Given the description of an element on the screen output the (x, y) to click on. 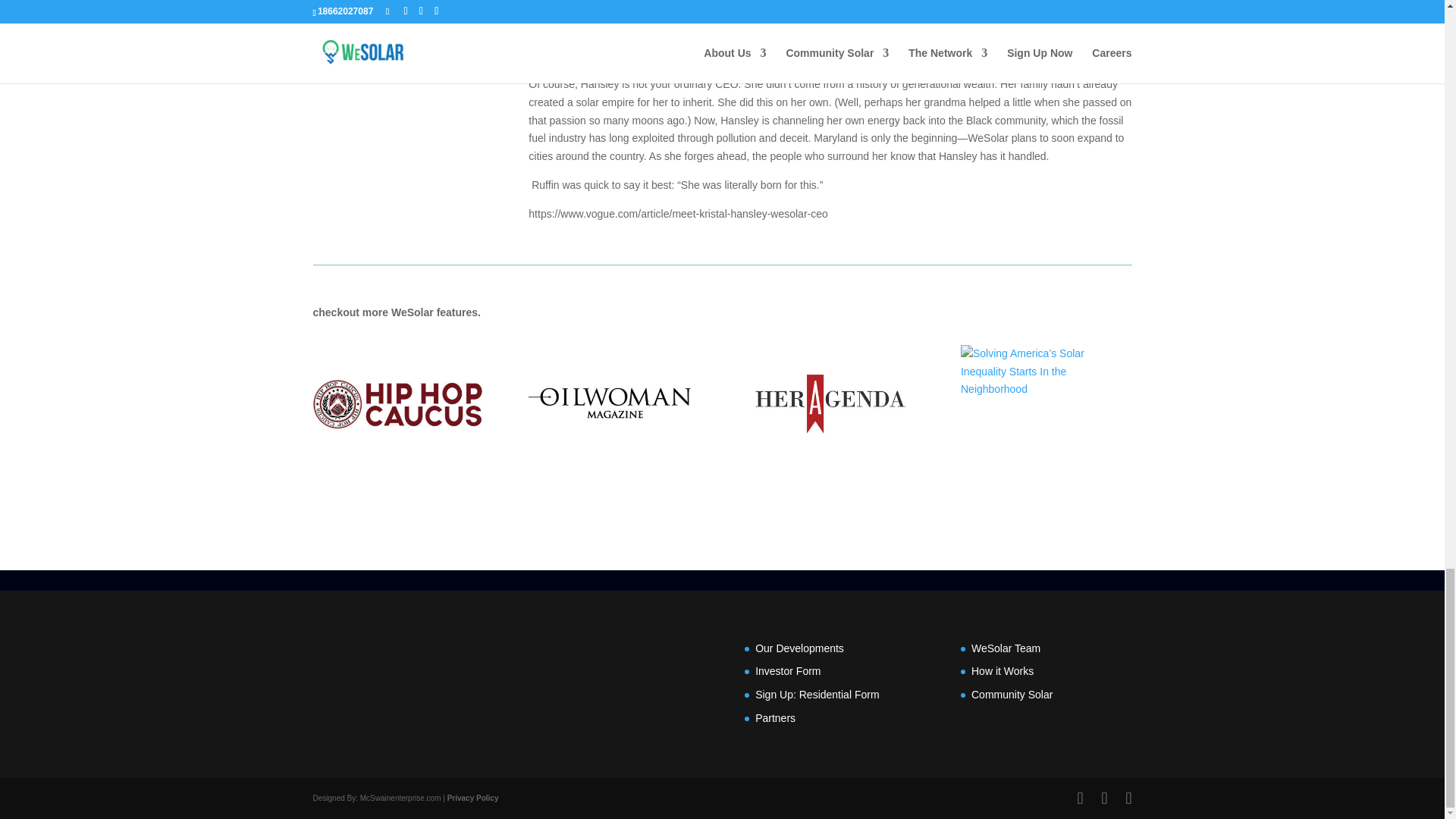
Privacy Policy (472, 797)
How it Works (1002, 671)
WeSolar Team (1006, 648)
Investor Form (788, 671)
Community Solar (1011, 694)
Partners (774, 717)
Our Developments (799, 648)
Sign Up: Residential Form (817, 694)
